Given the description of an element on the screen output the (x, y) to click on. 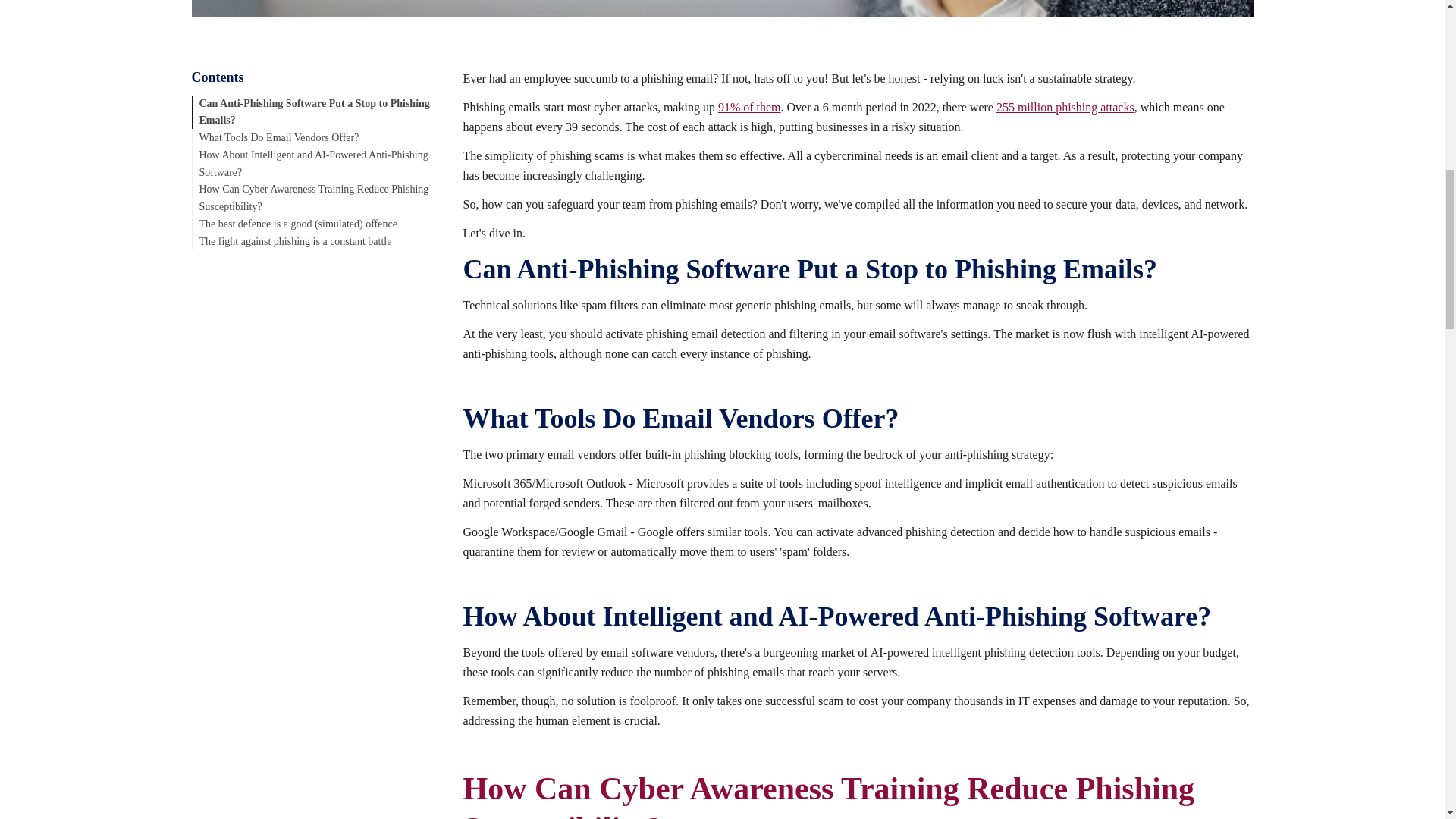
Can Anti-Phishing Software Put a Stop to Phishing Emails? (313, 111)
The fight against phishing is a constant battle (294, 240)
255 million phishing attacks (1064, 106)
What Tools Do Email Vendors Offer? (278, 137)
How About Intelligent and AI-Powered Anti-Phishing Software? (313, 163)
